Given the description of an element on the screen output the (x, y) to click on. 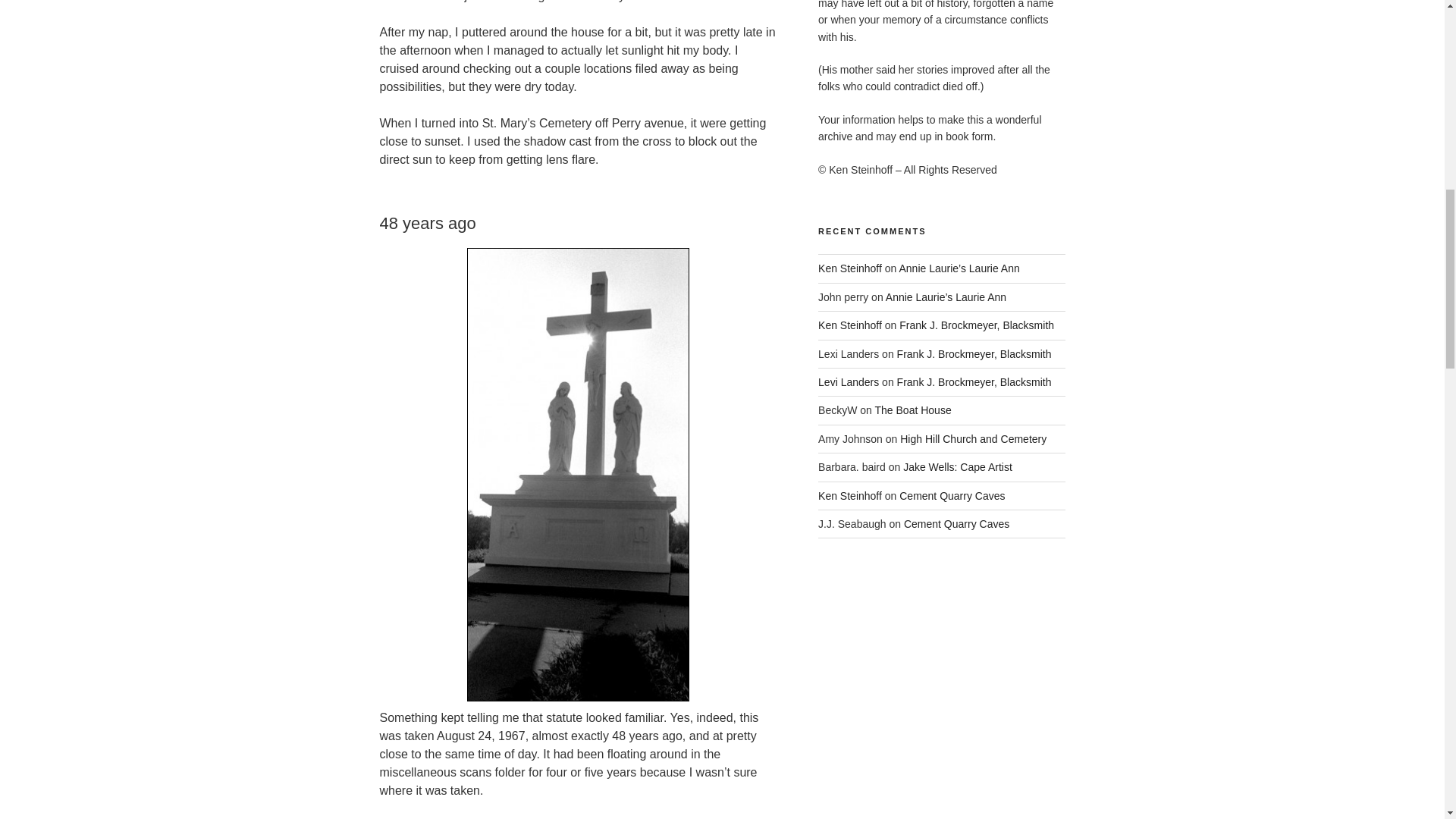
Frank J. Brockmeyer, Blacksmith (973, 354)
Jake Wells: Cape Artist (956, 467)
Ken Steinhoff (850, 268)
Cement Quarry Caves (956, 523)
Frank J. Brockmeyer, Blacksmith (973, 381)
High Hill Church and Cemetery (972, 439)
Ken Steinhoff (850, 325)
Levi Landers (848, 381)
Frank J. Brockmeyer, Blacksmith (976, 325)
Ken Steinhoff (850, 495)
Cement Quarry Caves (951, 495)
The Boat House (913, 410)
